Given the description of an element on the screen output the (x, y) to click on. 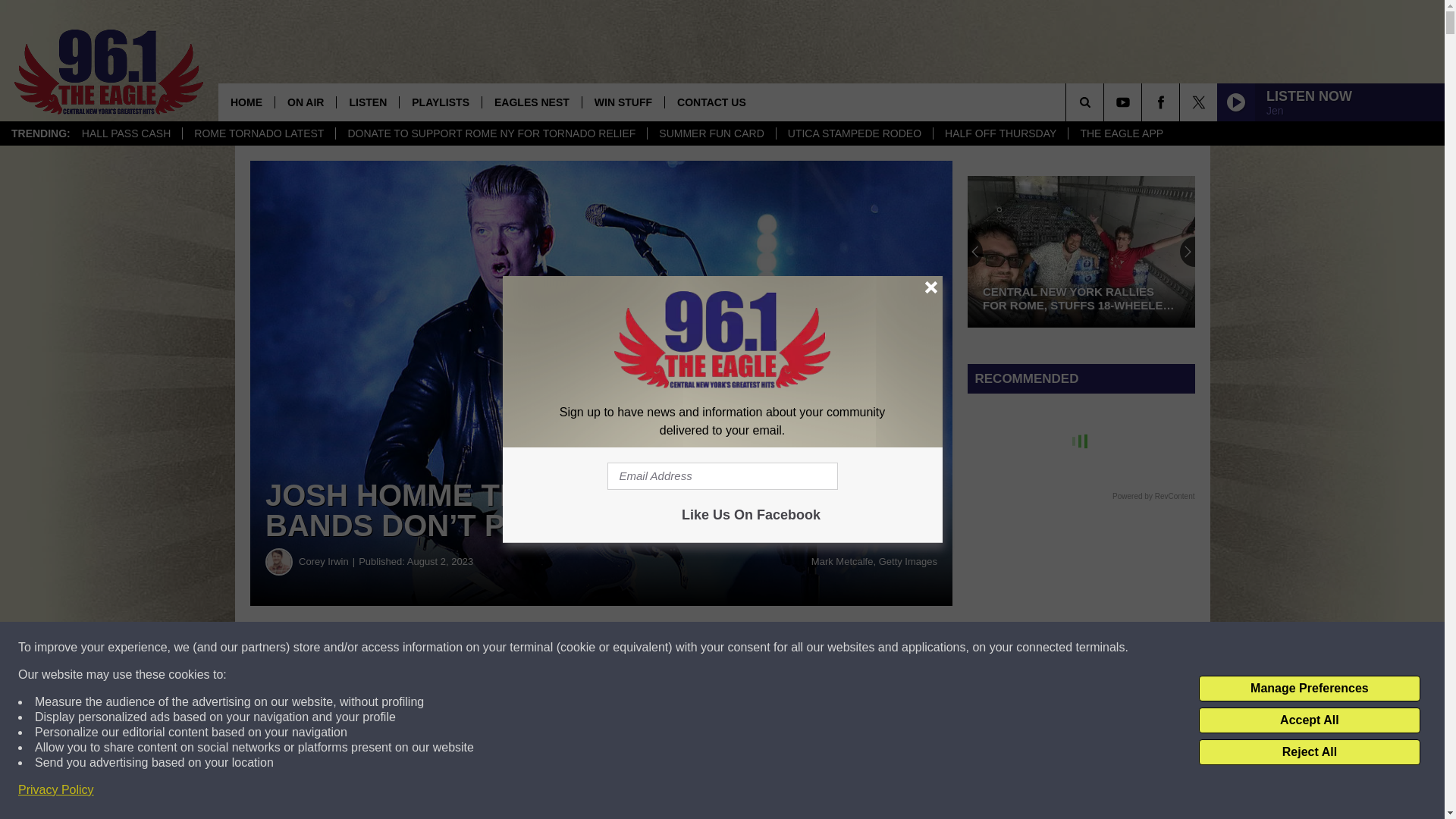
DONATE TO SUPPORT ROME NY FOR TORNADO RELIEF (490, 133)
Accept All (1309, 720)
THE EAGLE APP (1120, 133)
SUMMER FUN CARD (710, 133)
ROME TORNADO LATEST (258, 133)
Reject All (1309, 751)
TWEET (741, 647)
PLAYLISTS (439, 102)
HALF OFF THURSDAY (1000, 133)
SEARCH (1106, 102)
SHARE (460, 647)
Privacy Policy (55, 789)
HALL PASS CASH (126, 133)
CONTACT US (710, 102)
UTICA STAMPEDE RODEO (854, 133)
